Given the description of an element on the screen output the (x, y) to click on. 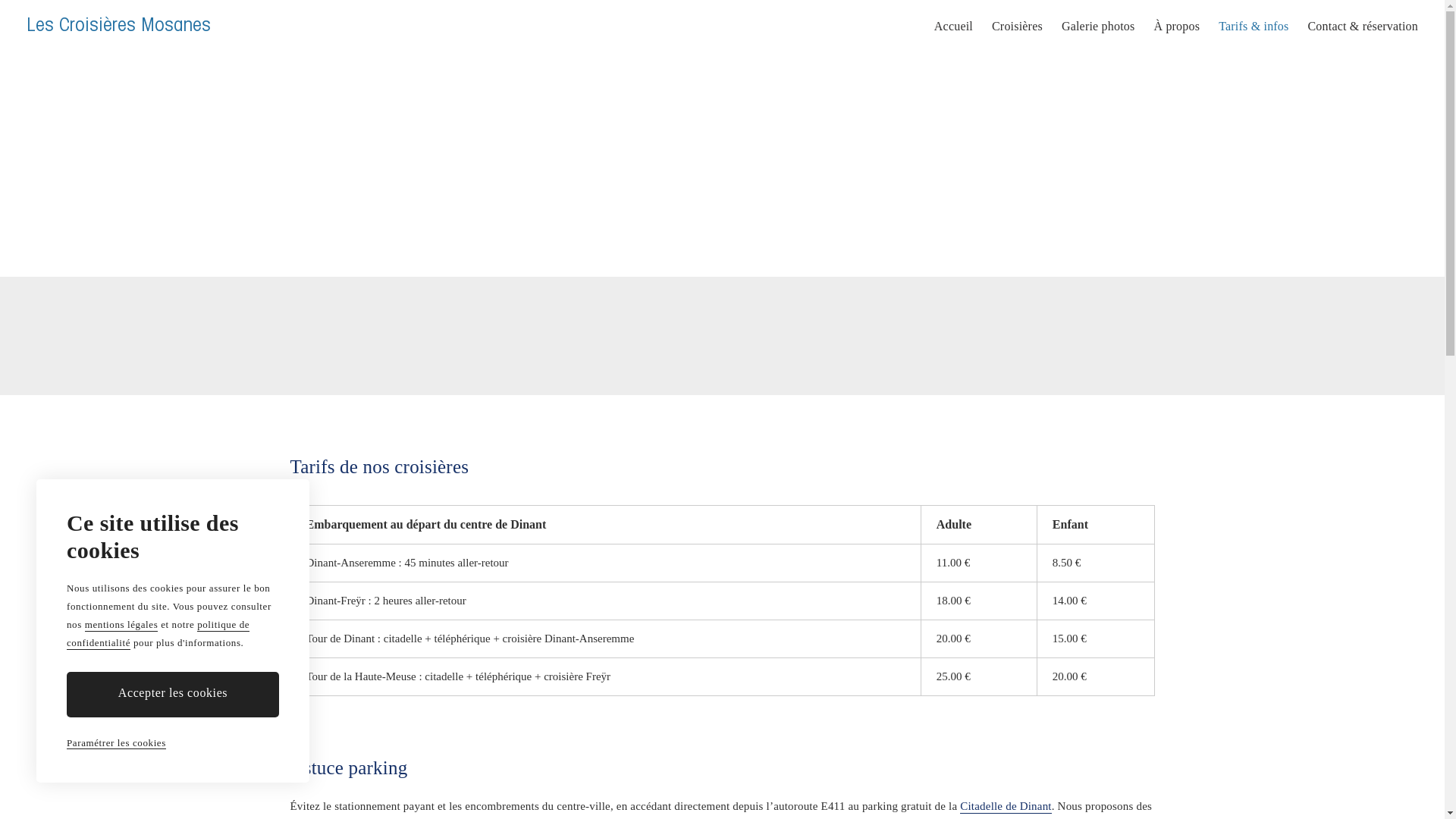
Tarifs & infos Element type: text (1253, 26)
Citadelle de Dinant Element type: text (1005, 806)
Galerie photos Element type: text (1098, 26)
Accueil Element type: text (953, 26)
